Given the description of an element on the screen output the (x, y) to click on. 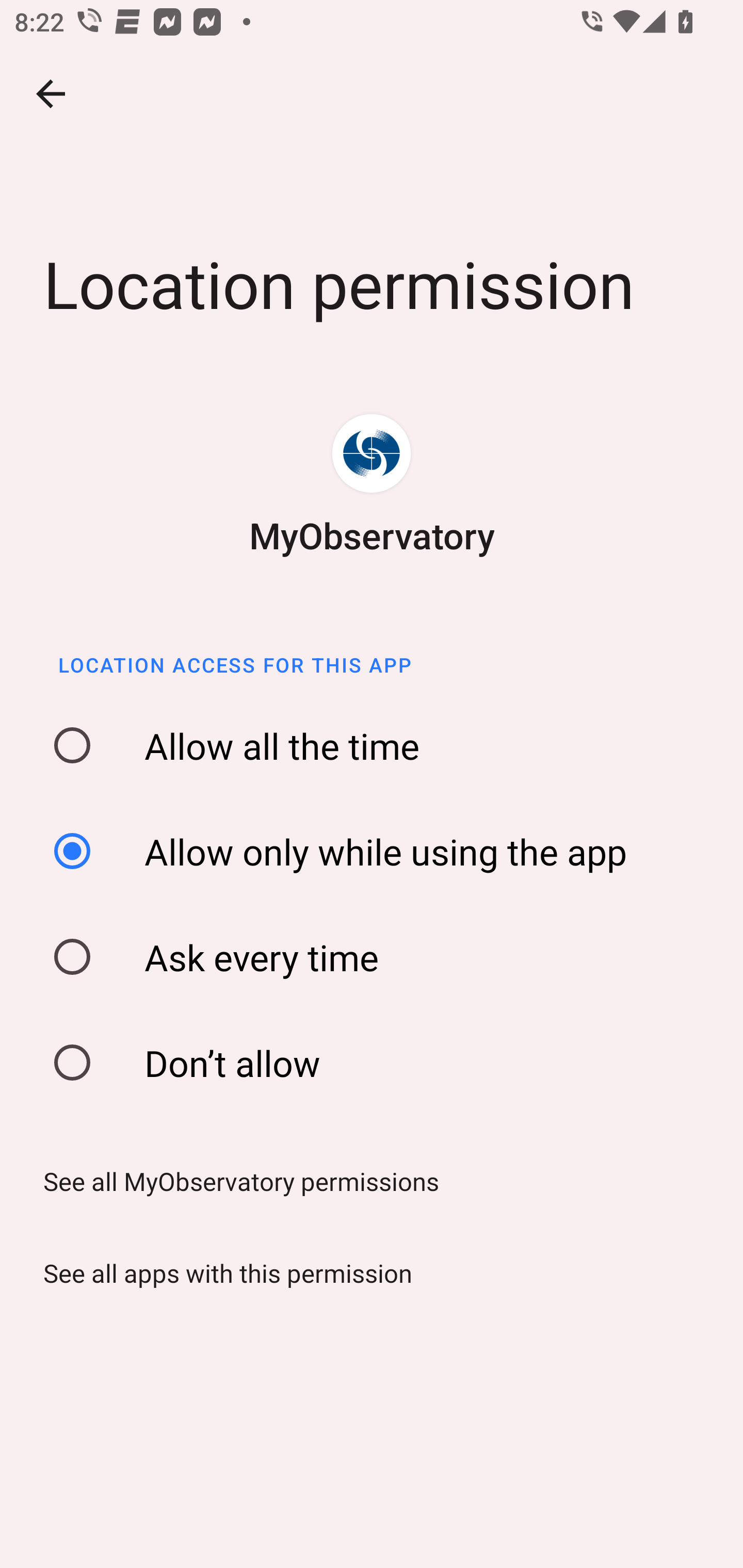
Back (50, 93)
Allow all the time (378, 745)
Allow only while using the app (378, 850)
Ask every time (378, 956)
Don’t allow (378, 1061)
See all MyObservatory permissions (234, 1181)
See all apps with this permission (220, 1272)
